Given the description of an element on the screen output the (x, y) to click on. 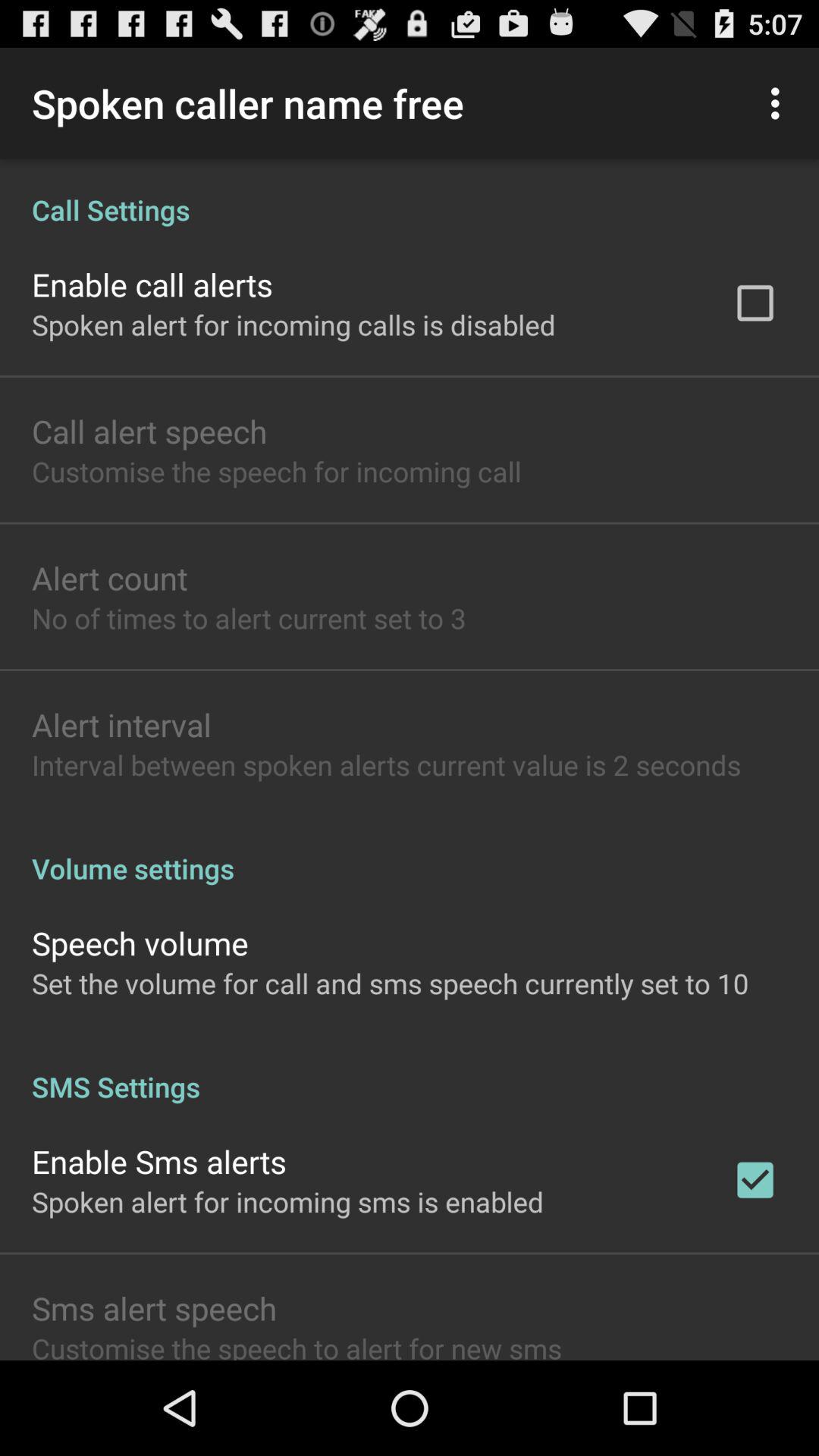
scroll until call settings item (409, 193)
